Given the description of an element on the screen output the (x, y) to click on. 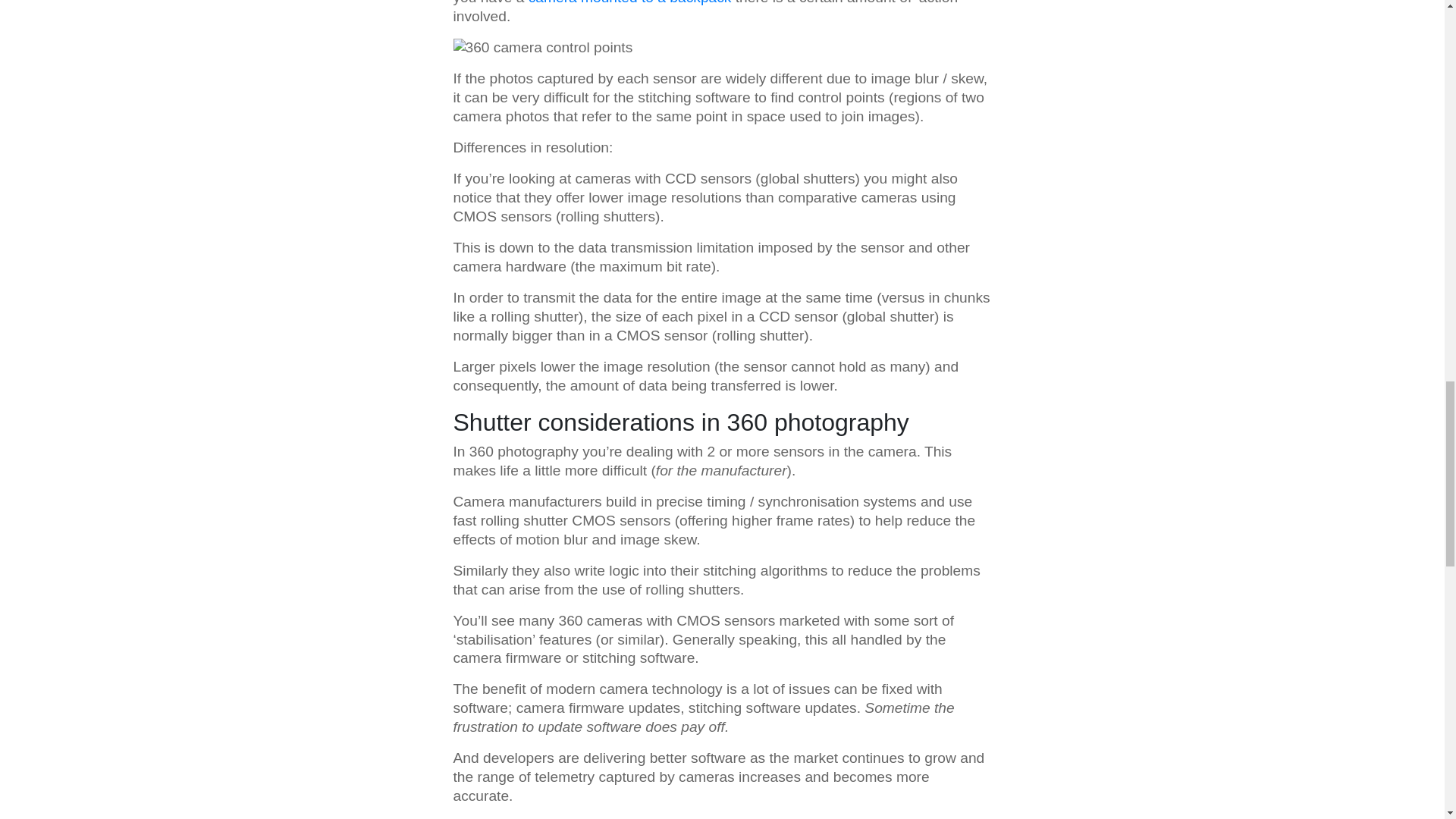
camera mounted to a backpack (630, 2)
360 camera control points (542, 47)
